Given the description of an element on the screen output the (x, y) to click on. 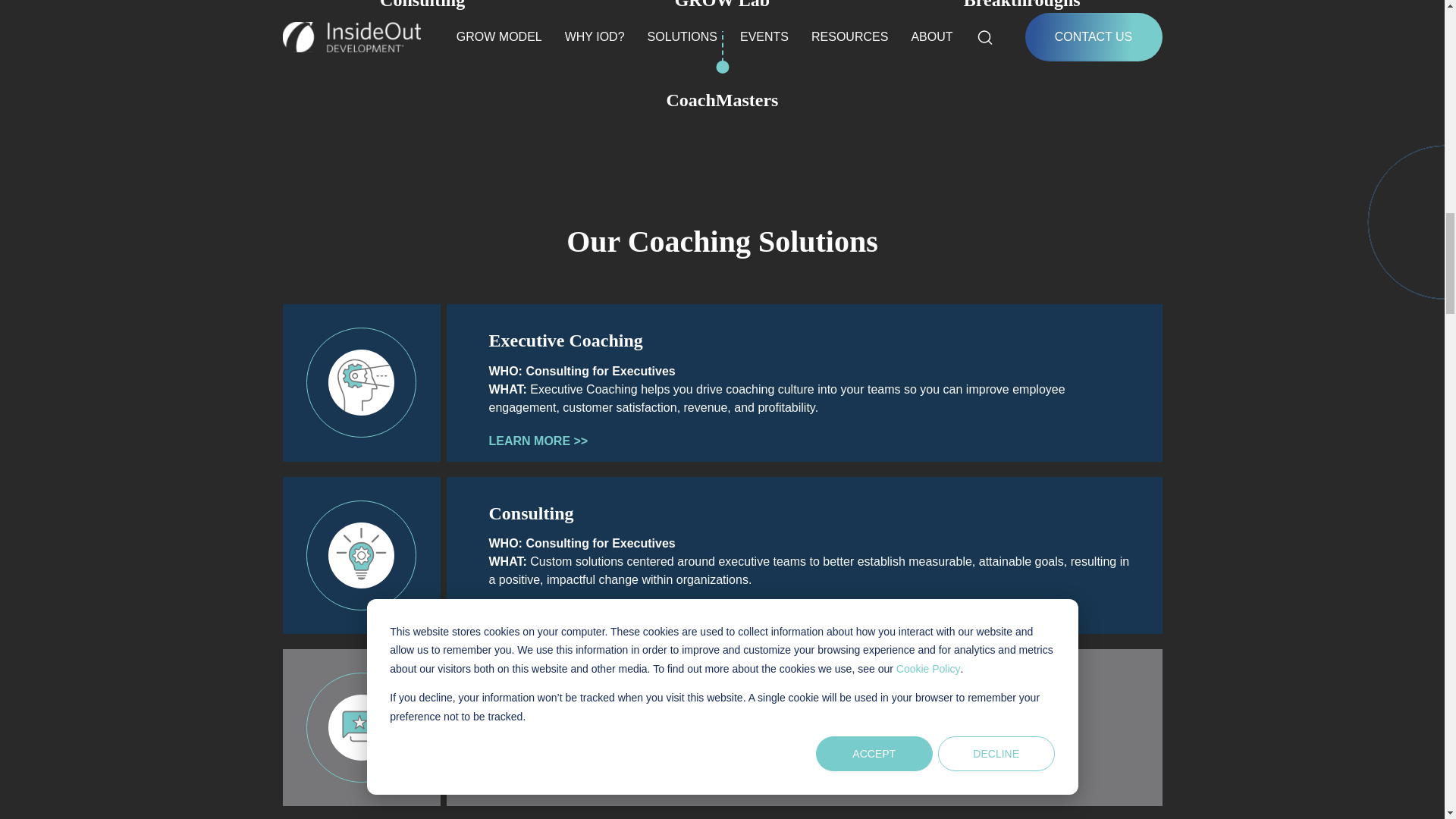
GROW Lab (722, 5)
Breakthroughs (1021, 5)
Consulting (422, 5)
CoachMasters (721, 100)
